Given the description of an element on the screen output the (x, y) to click on. 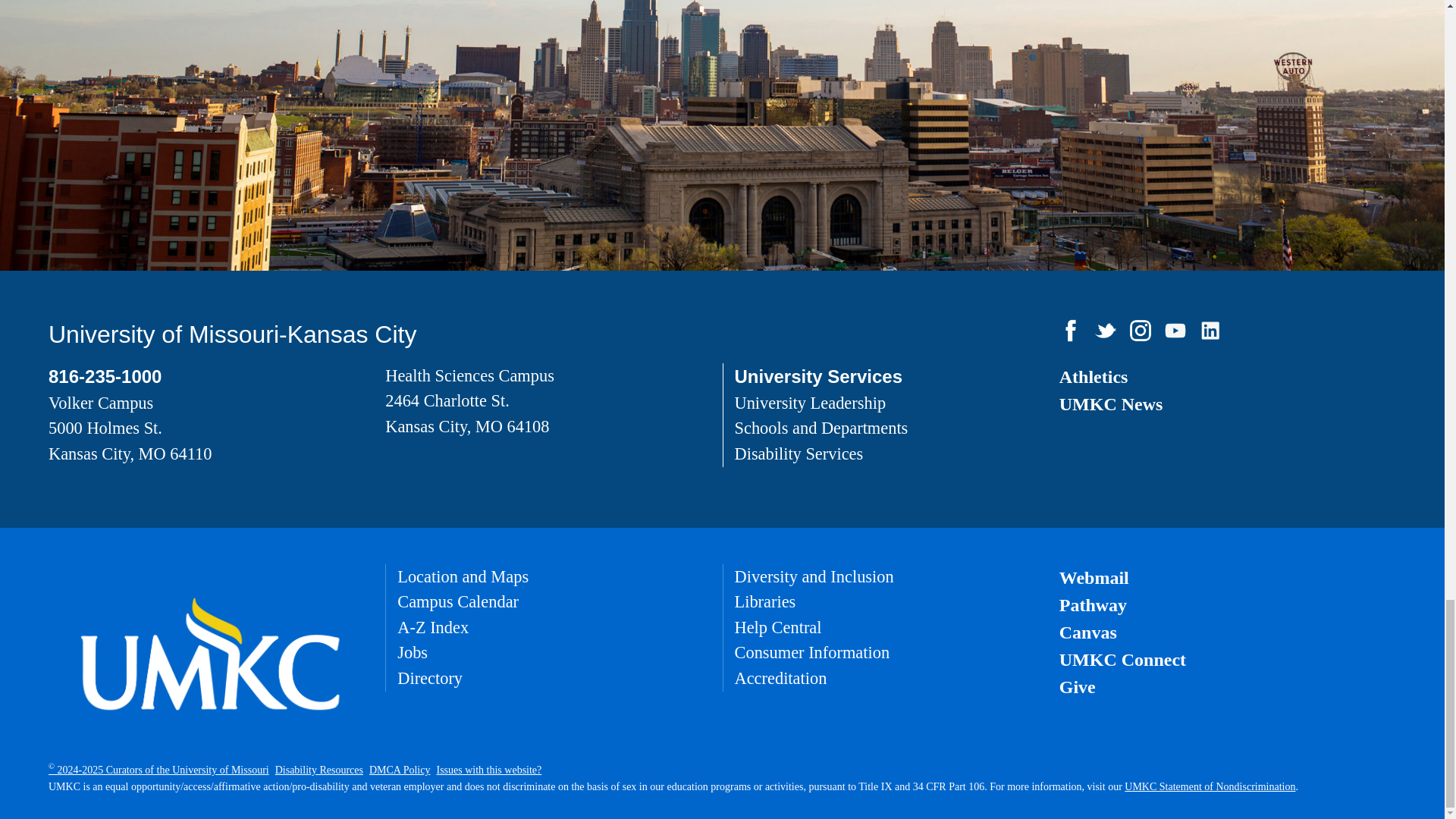
UMKC Facebook (1070, 330)
UMKC Logo (211, 653)
